Given the description of an element on the screen output the (x, y) to click on. 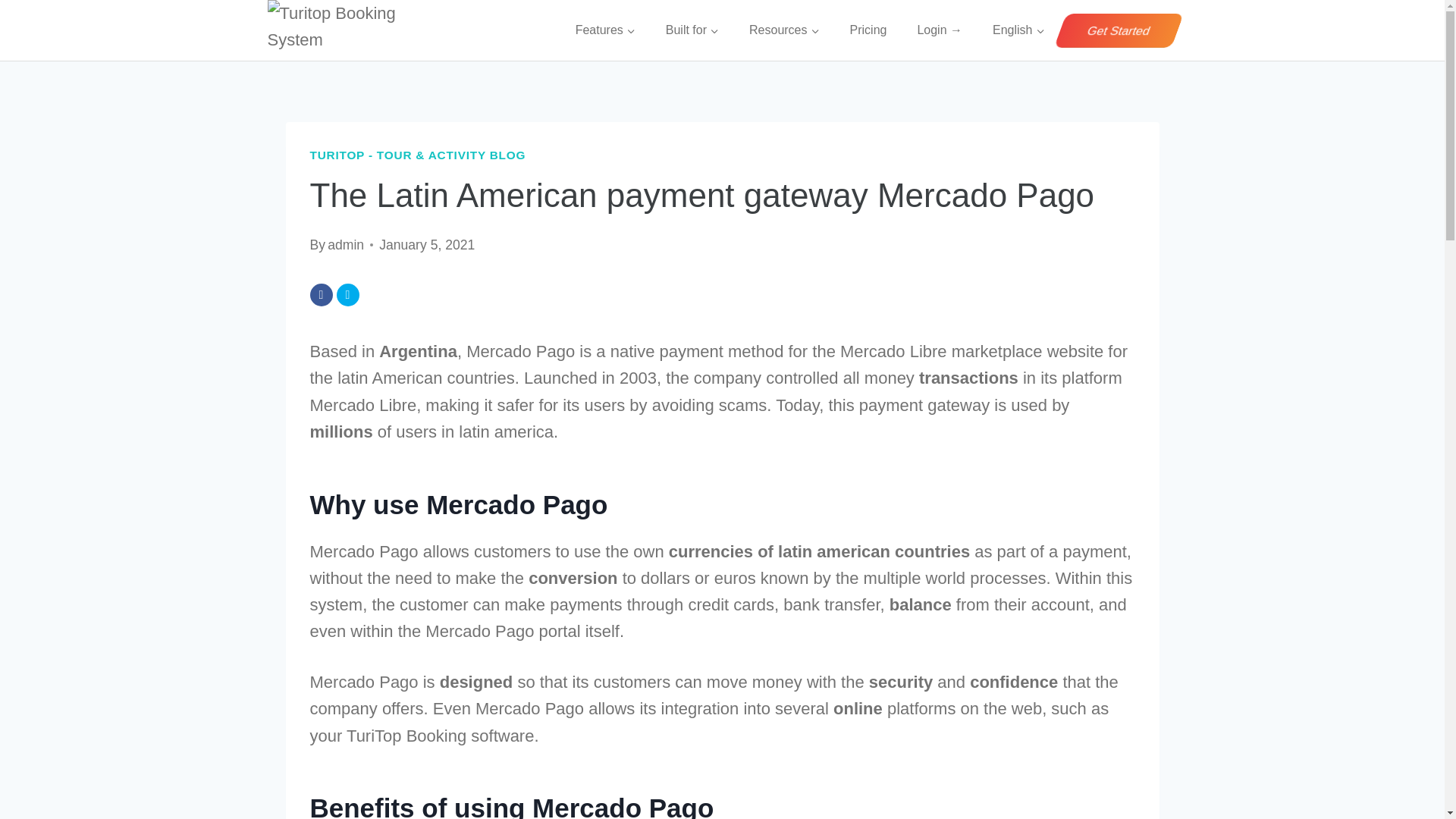
Built for (691, 30)
Resources (783, 30)
Features (605, 30)
